Given the description of an element on the screen output the (x, y) to click on. 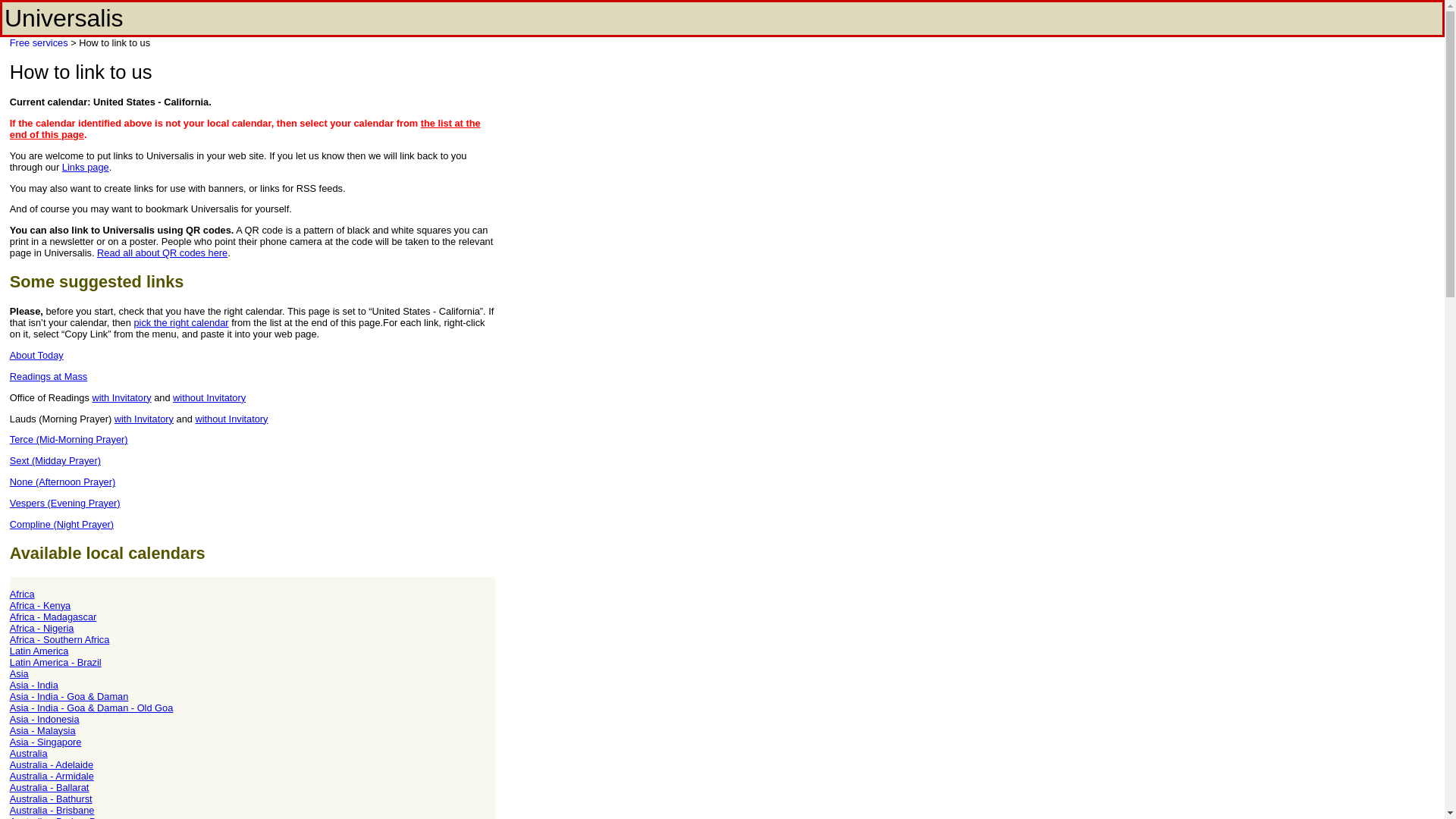
Africa - Madagascar (53, 616)
Africa - Kenya (39, 604)
Australia - Adelaide (51, 764)
Free services (39, 42)
Africa (22, 593)
Asia - Indonesia (45, 718)
Australia - Armidale (52, 776)
pick the right calendar (180, 322)
Australia - Bathurst (51, 798)
Asia (19, 673)
